Given the description of an element on the screen output the (x, y) to click on. 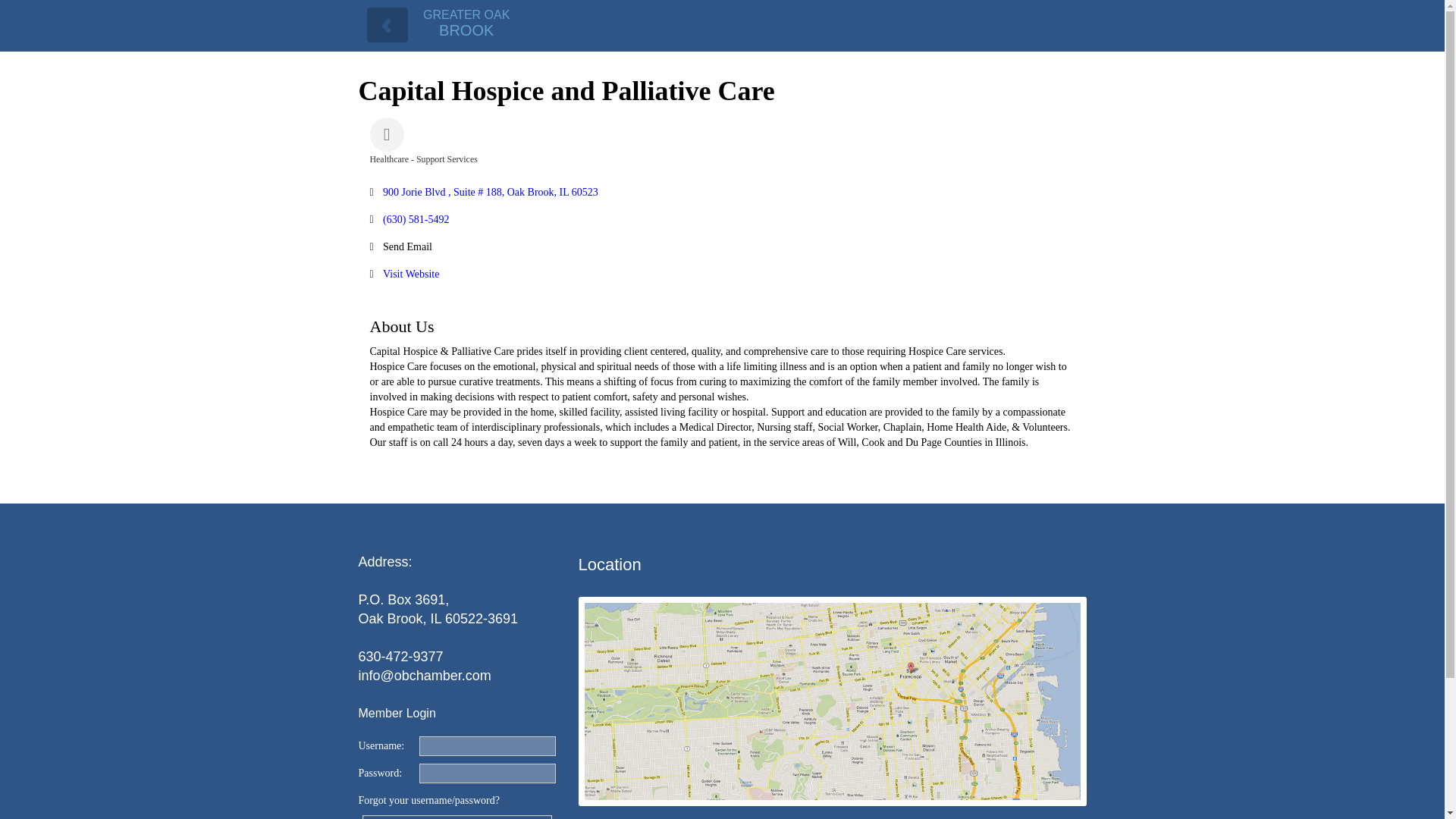
Send Email (407, 246)
Log In (466, 22)
Log In (456, 816)
Visit Website (456, 816)
